Given the description of an element on the screen output the (x, y) to click on. 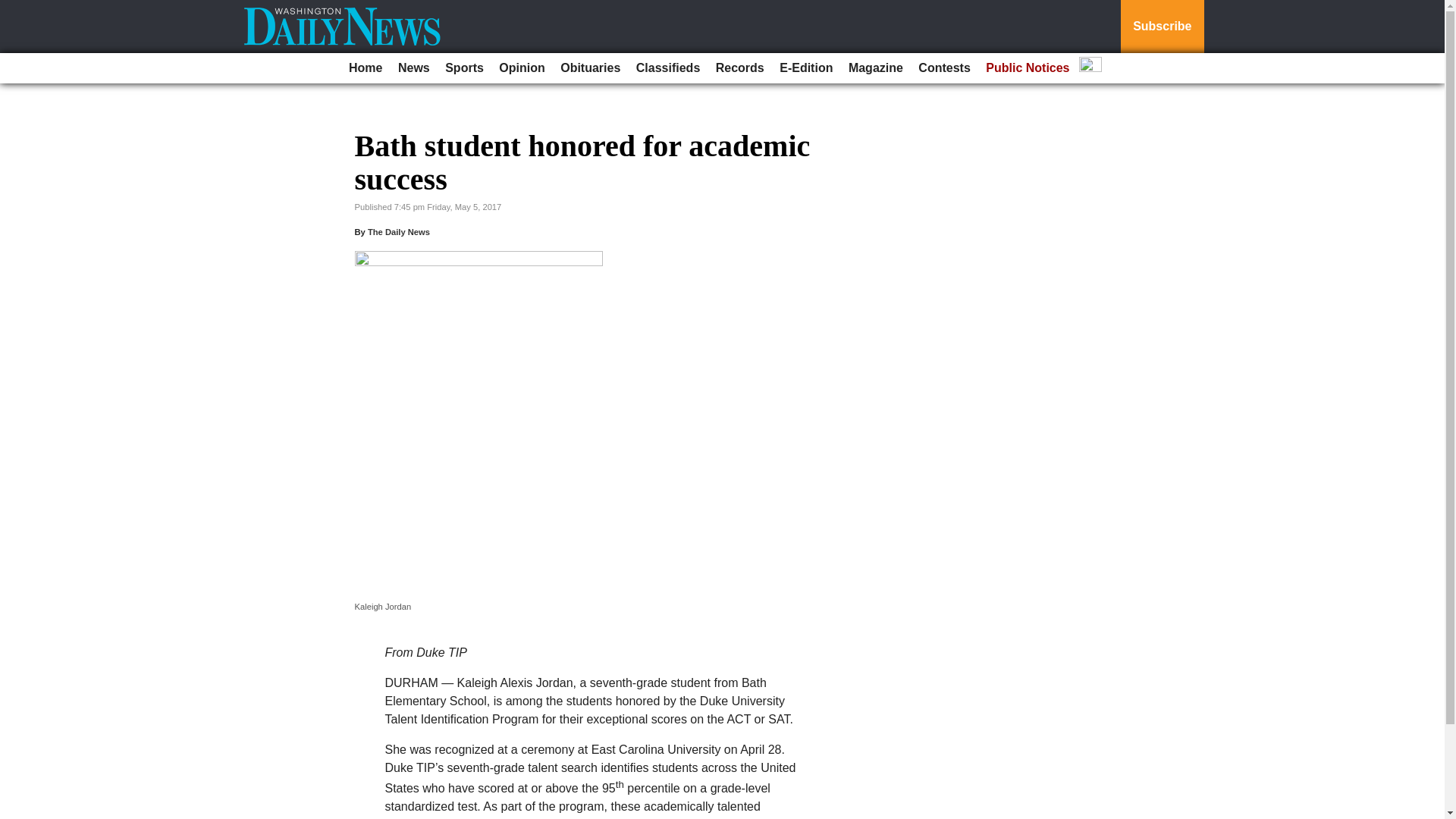
E-Edition (805, 68)
Records (740, 68)
Public Notices (1027, 68)
Go (13, 9)
Subscribe (1162, 26)
Sports (464, 68)
Obituaries (590, 68)
News (413, 68)
Magazine (875, 68)
Home (365, 68)
